Given the description of an element on the screen output the (x, y) to click on. 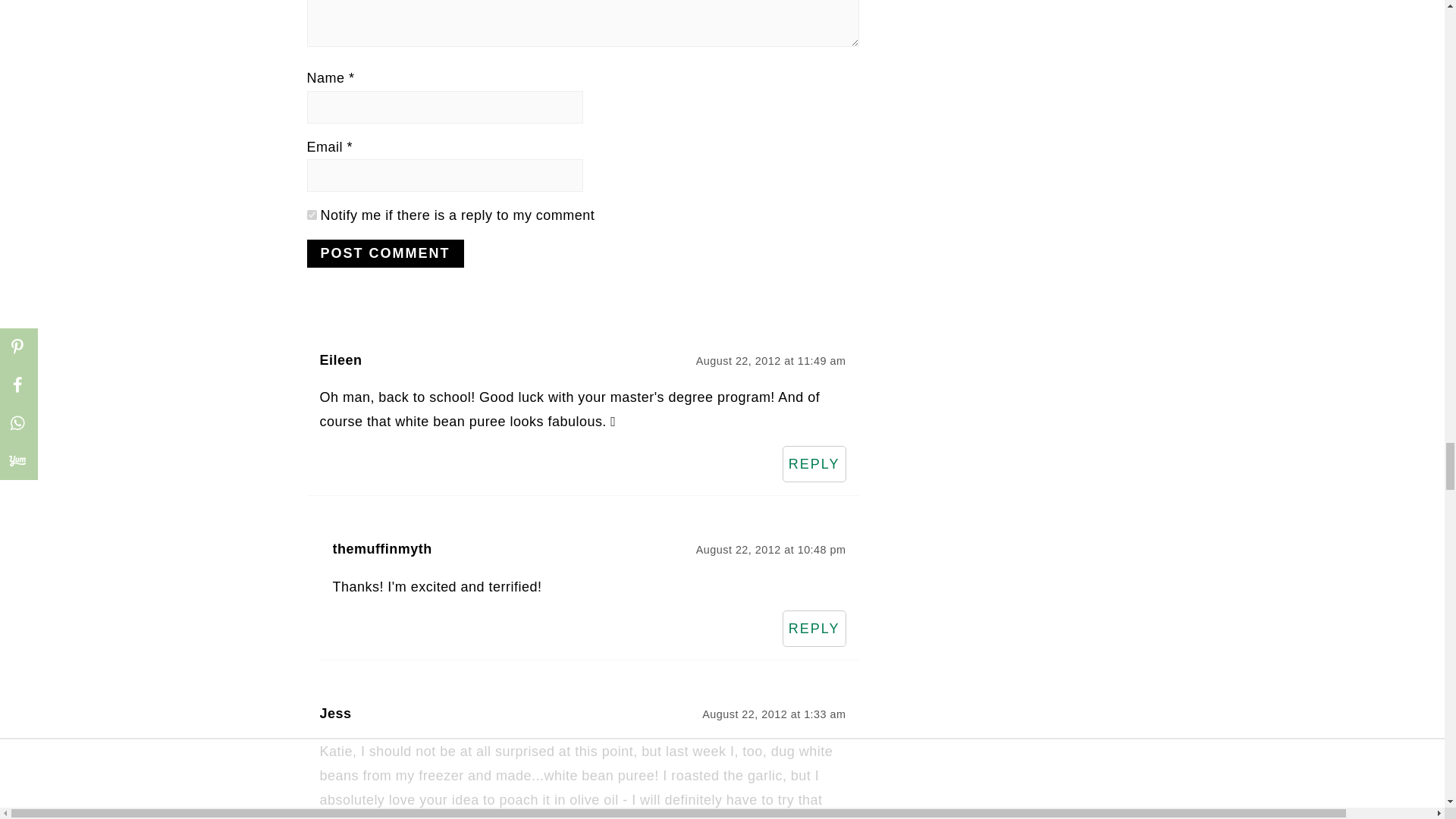
on (310, 214)
Post Comment (384, 253)
